Given the description of an element on the screen output the (x, y) to click on. 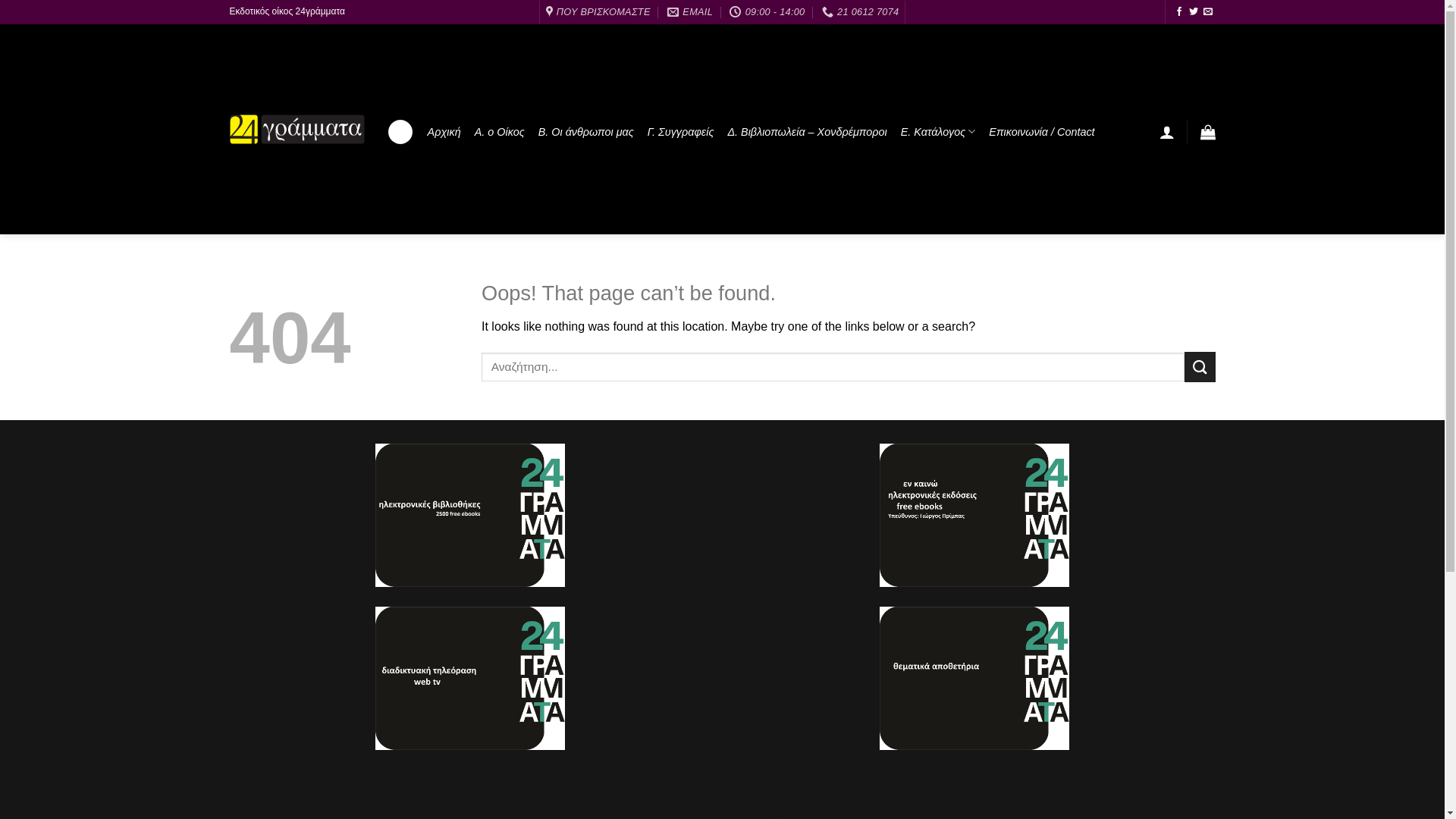
Follow on Twitter Element type: hover (1193, 11)
EMAIL Element type: text (689, 11)
Free eBooks Element type: hover (974, 677)
Free eBooks Element type: hover (974, 514)
Send us an email Element type: hover (1207, 11)
09:00 - 14:00 Element type: text (766, 11)
Cart Element type: hover (1206, 131)
Follow on Facebook Element type: hover (1178, 11)
21 0612 7074 Element type: text (860, 11)
Free eBooks Element type: hover (469, 677)
Free eBooks Element type: hover (469, 514)
